Given the description of an element on the screen output the (x, y) to click on. 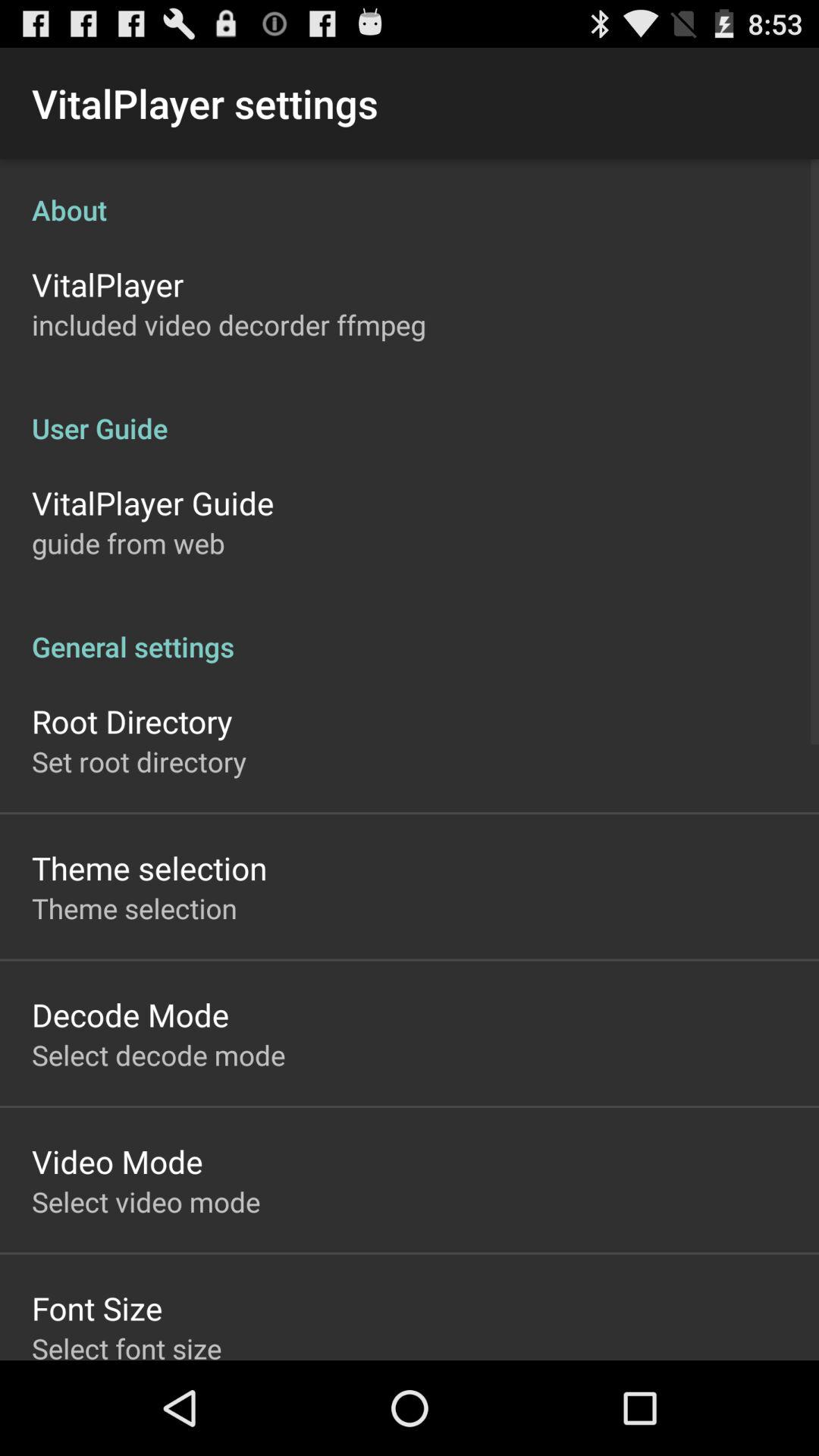
launch app above vitalplayer item (409, 193)
